Given the description of an element on the screen output the (x, y) to click on. 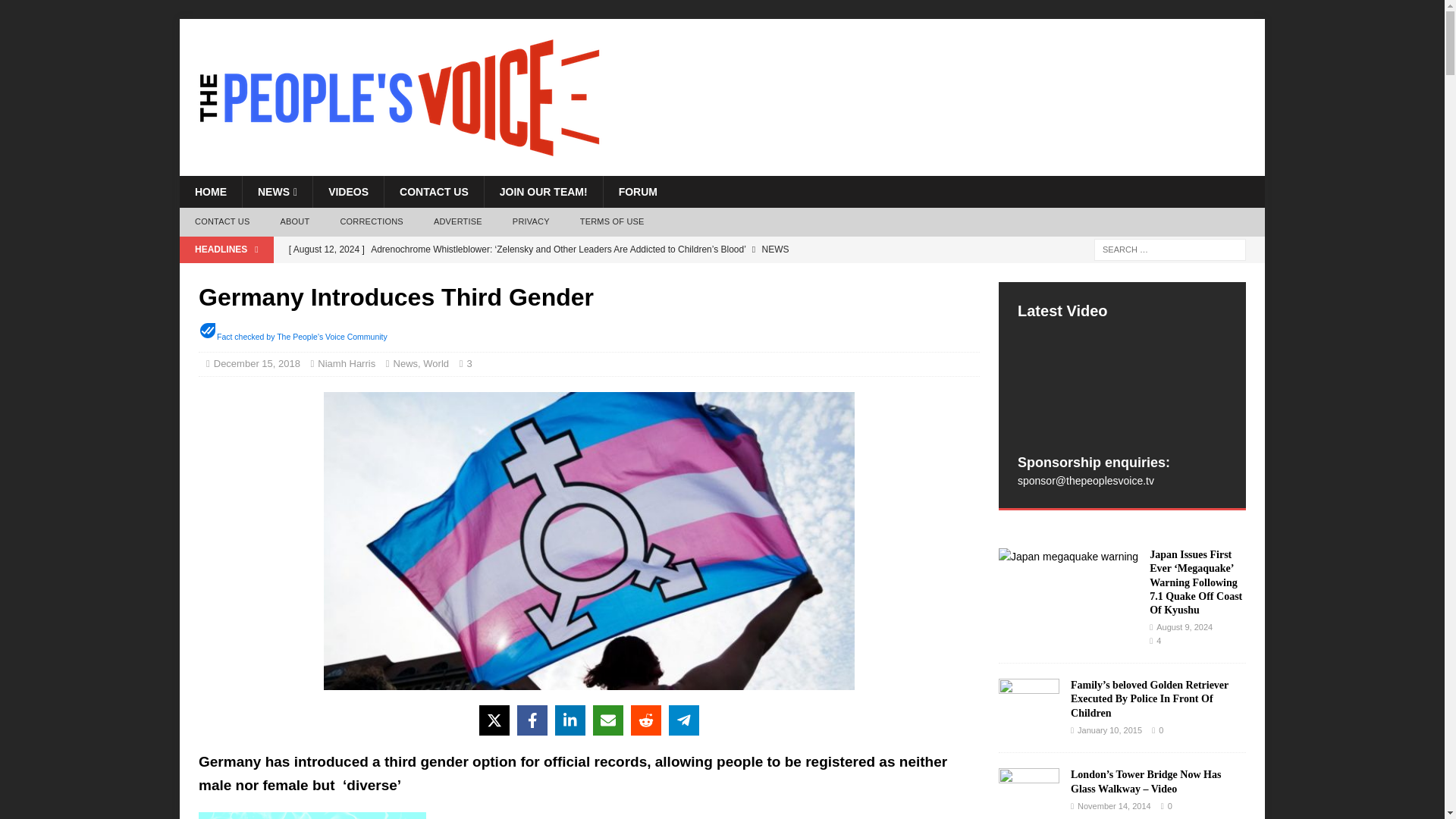
ABOUT (294, 222)
HOME (210, 192)
CORRECTIONS (370, 222)
Fact checked by The People's Voice Community (301, 336)
VIDEOS (348, 192)
CONTACT US (221, 222)
Niamh Harris (346, 363)
CONTACT US (433, 192)
PRIVACY (530, 222)
TERMS OF USE (611, 222)
